Given the description of an element on the screen output the (x, y) to click on. 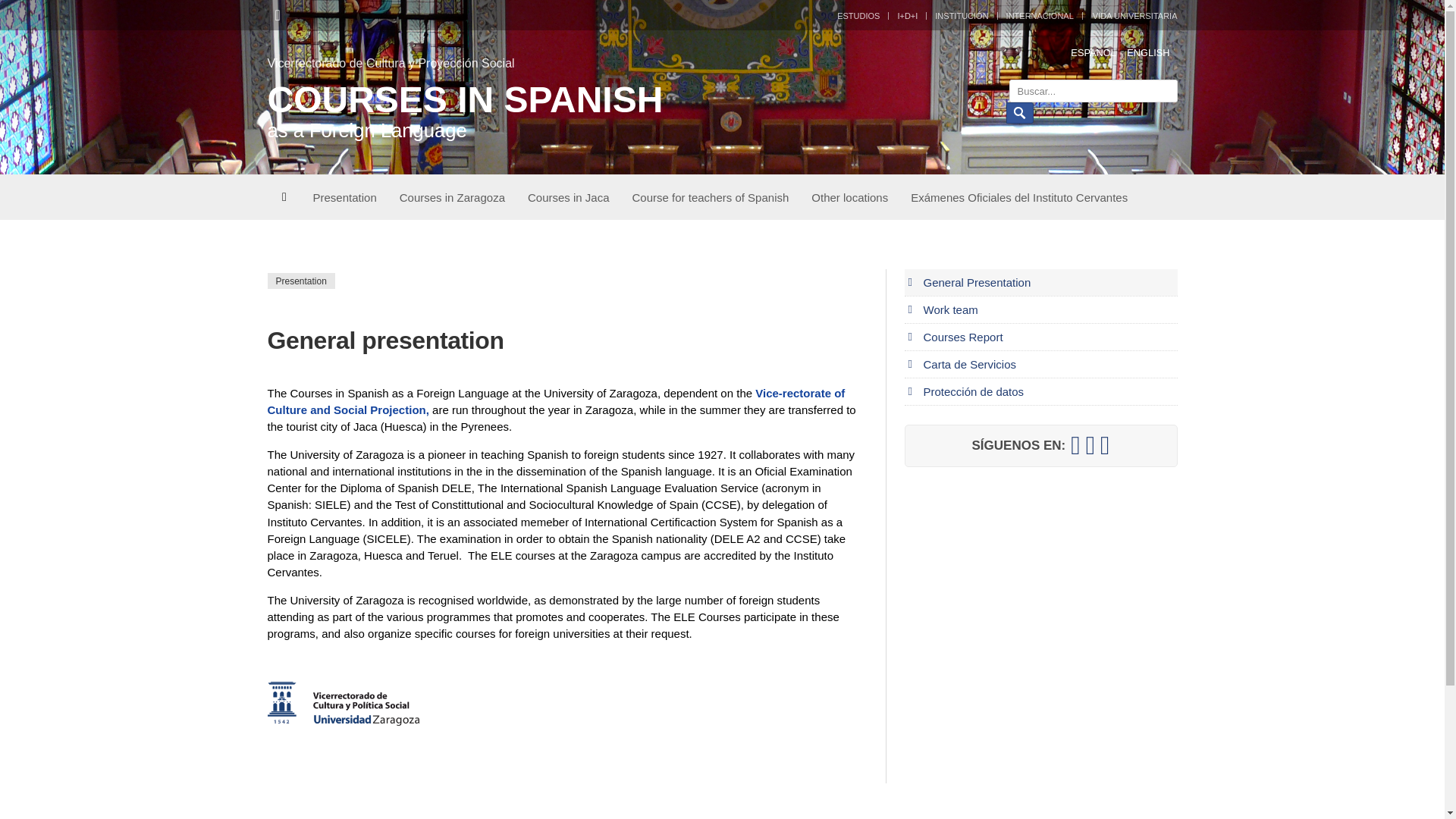
Enter the terms you wish to search for. (1092, 90)
VIDA UNIVERSITARIA (1130, 15)
ESTUDIOS (637, 110)
Presentation (858, 15)
Inicio (344, 197)
Other locations (1093, 52)
Search (849, 197)
ENGLISH (1019, 112)
General Presentation (1147, 52)
Course for teachers of Spanish (1040, 282)
Courses in Spanish (710, 197)
Carta de Servicios (1147, 52)
Courses in Zaragoza (1040, 364)
Courses Report (452, 197)
